Given the description of an element on the screen output the (x, y) to click on. 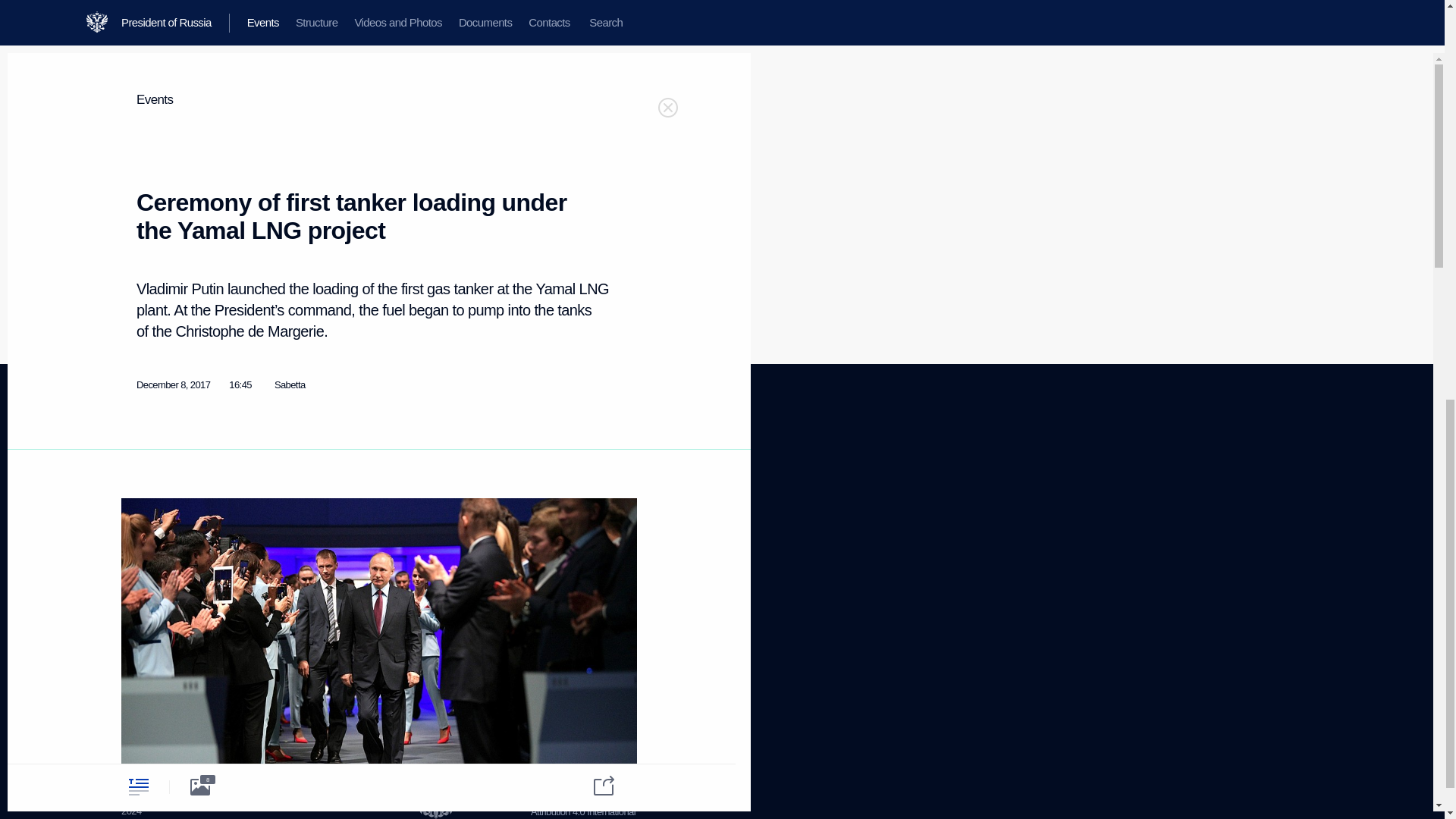
Search (134, 575)
For the Media (148, 611)
Subscribe (140, 646)
State Insignia (284, 531)
Version for People with Disabilities (165, 708)
Contacts (138, 556)
Events (134, 480)
YouTube Channel (429, 514)
Documents (143, 537)
Structure (138, 500)
Telegram Channel (430, 496)
The Constitution of Russia (309, 512)
Contact website team (573, 550)
Personal data of website users (579, 525)
Using website content (574, 500)
